Given the description of an element on the screen output the (x, y) to click on. 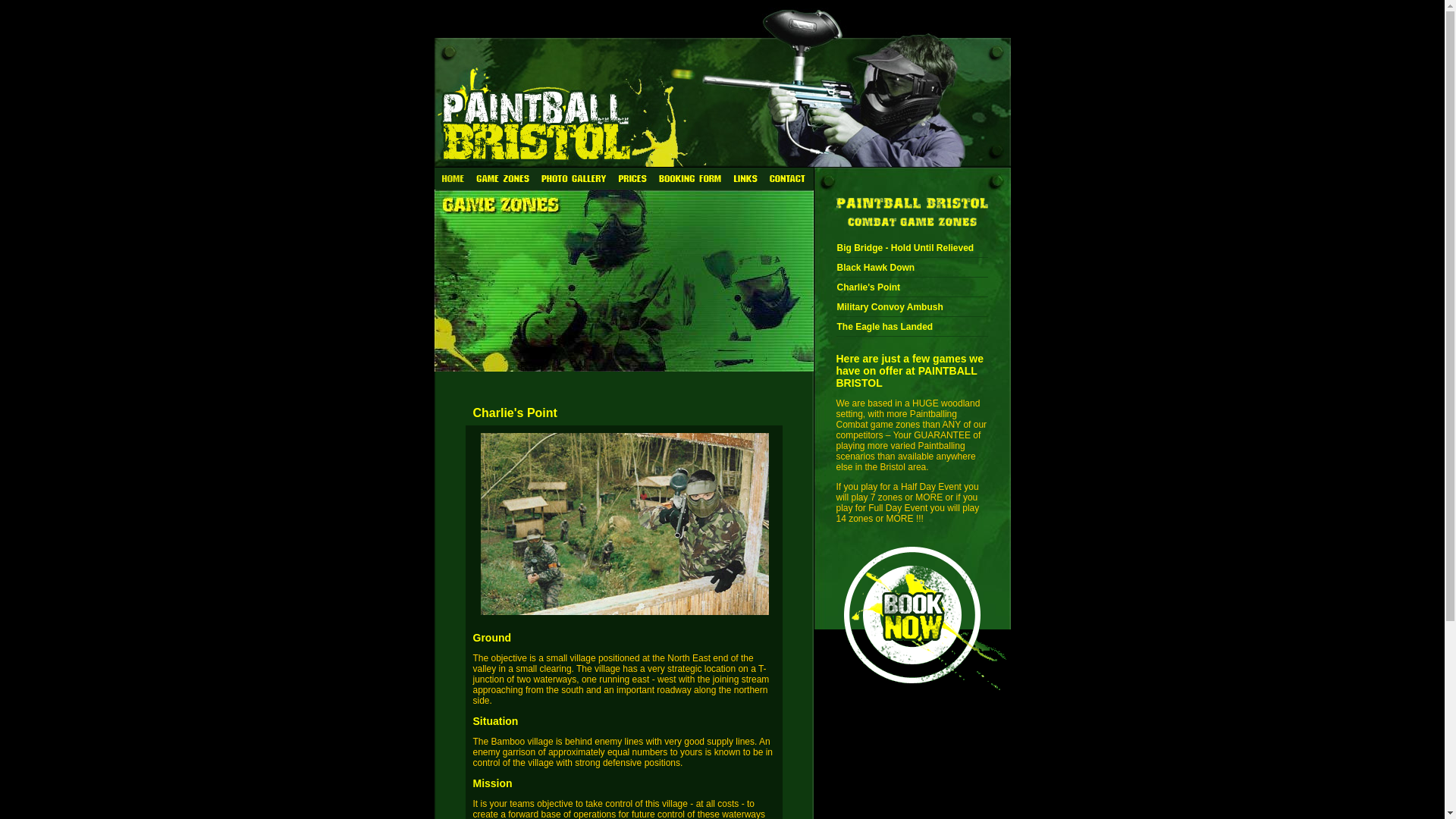
Charlie's Point (869, 286)
Prices (630, 178)
Photo Gallery (573, 178)
The Eagle has Landed (885, 326)
Booking Form (688, 178)
Contact (787, 178)
Military Convoy Ambush (890, 307)
Game Zones (502, 178)
Big Bridge - Hold Until Relieved (905, 247)
Black Hawk Down (876, 267)
